Given the description of an element on the screen output the (x, y) to click on. 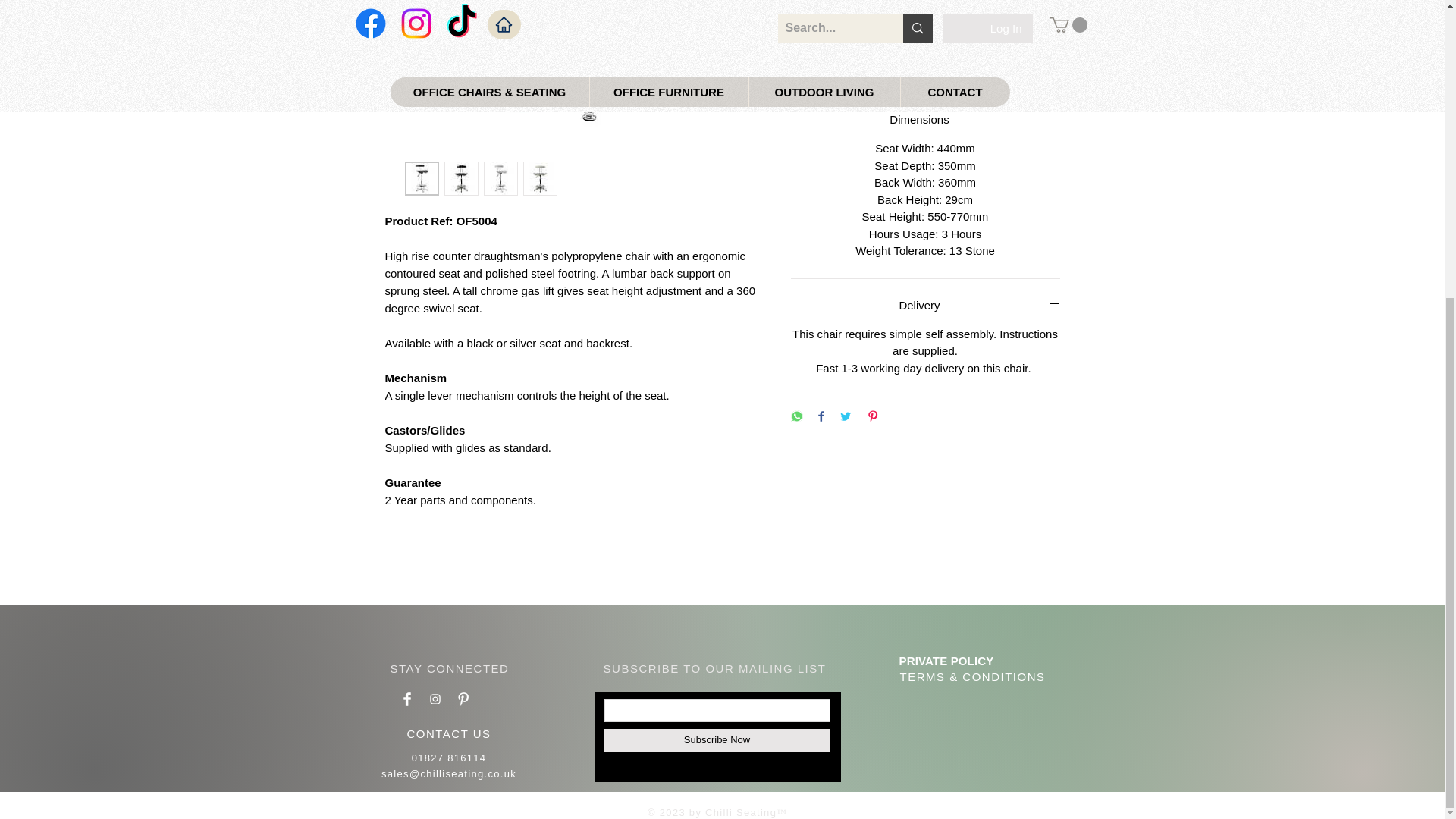
Add to Cart (905, 19)
